Given the description of an element on the screen output the (x, y) to click on. 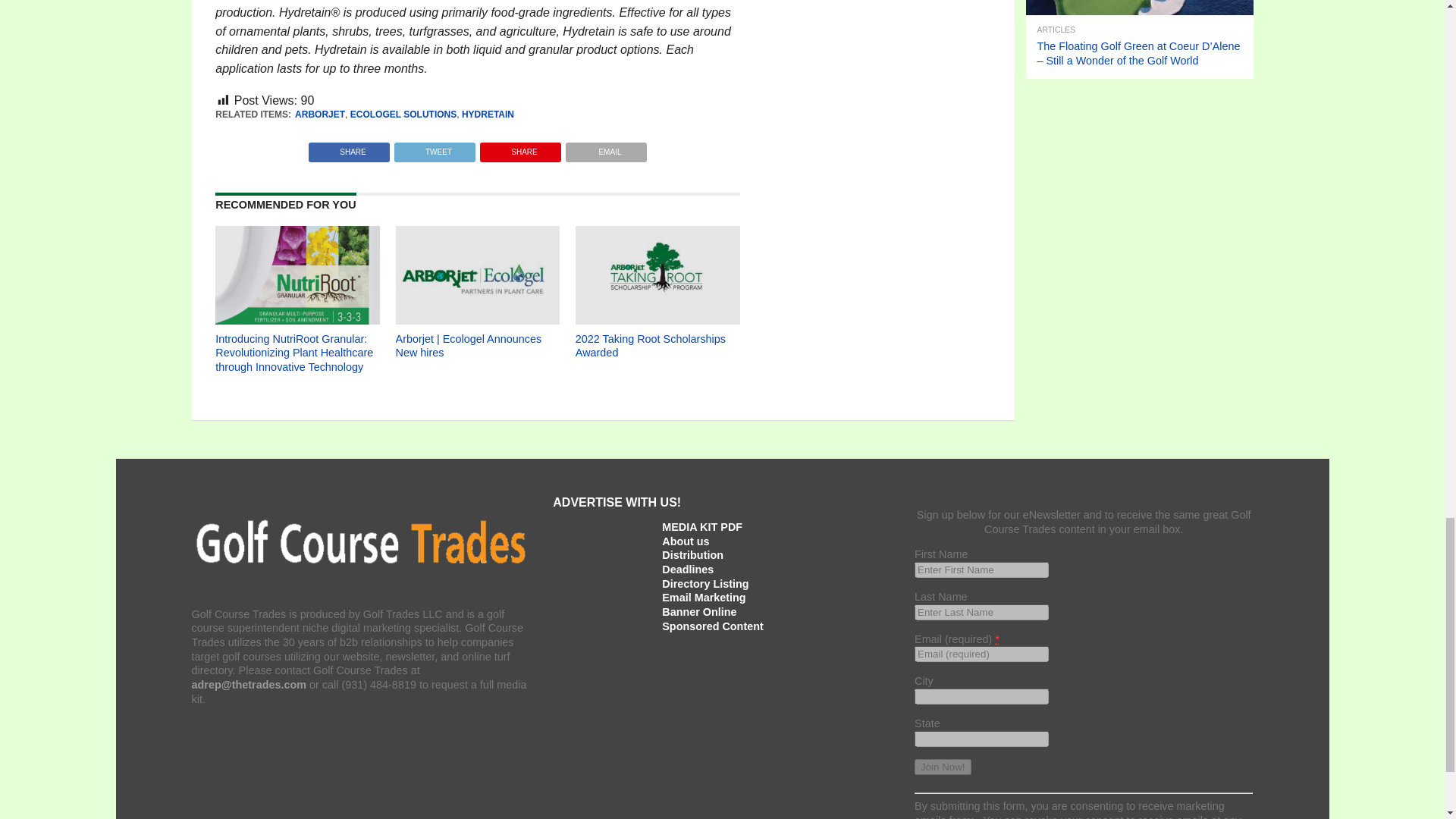
Share on Facebook (349, 147)
2022 Taking Root Scholarships Awarded (657, 319)
Join Now! (942, 766)
Tweet This Post (434, 147)
Pin This Post (520, 147)
